Given the description of an element on the screen output the (x, y) to click on. 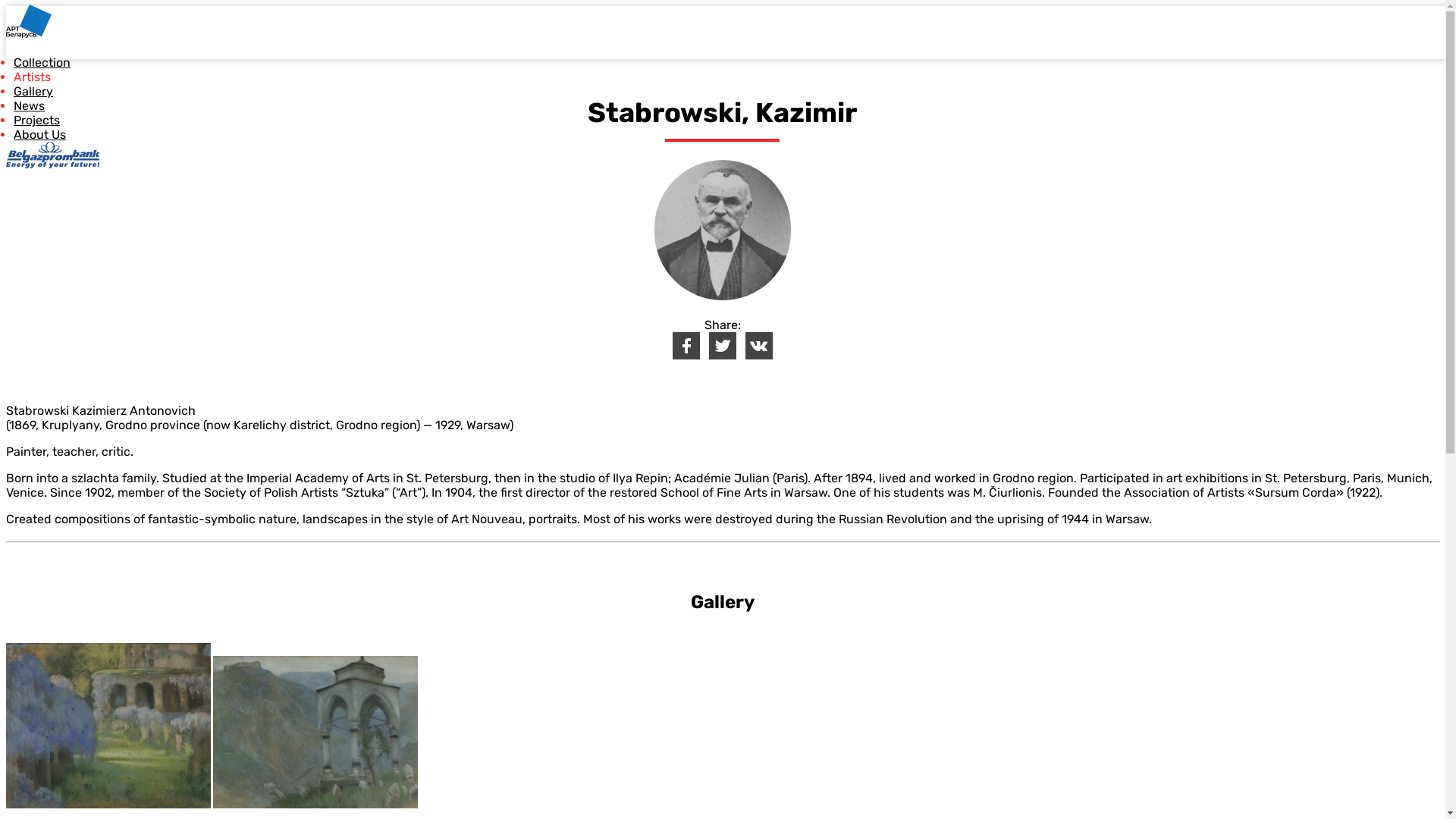
News Element type: text (28, 105)
Collection Element type: text (41, 62)
Artists Element type: text (31, 76)
Projects Element type: text (36, 119)
Initiator Element type: hover (52, 154)
Gallery Element type: text (33, 91)
About Us Element type: text (39, 134)
